Given the description of an element on the screen output the (x, y) to click on. 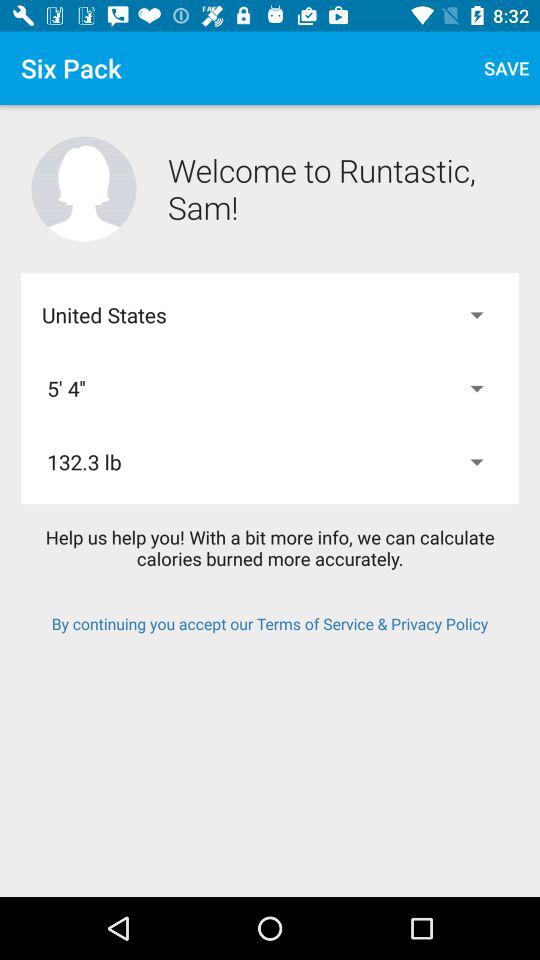
launch icon next to the six pack app (506, 67)
